Given the description of an element on the screen output the (x, y) to click on. 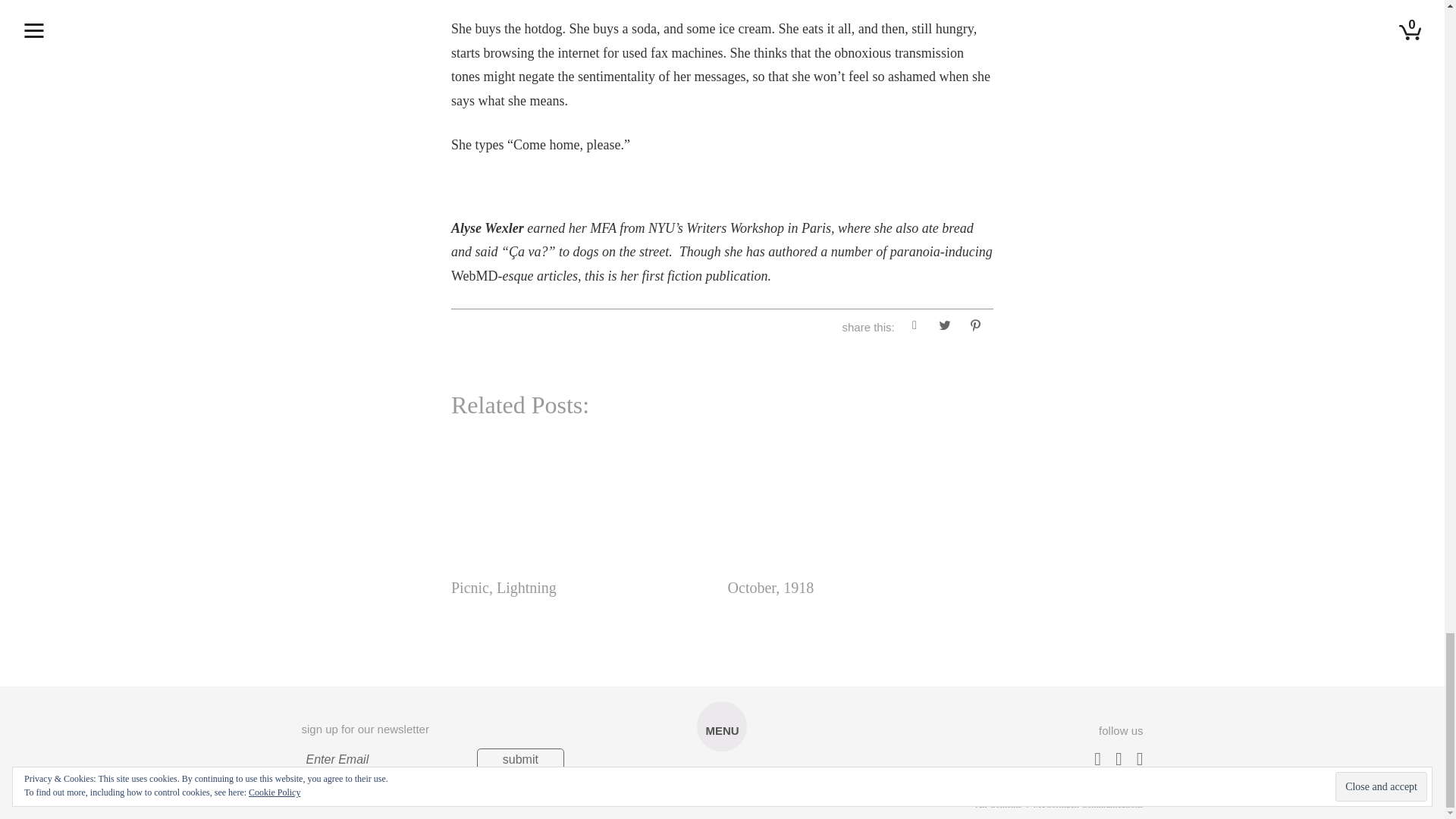
Click to share on Facebook (914, 327)
Click to share on Twitter (944, 327)
Created with Sketch. (721, 789)
Submit (520, 759)
Click to share on Pinterest (974, 327)
